Given the description of an element on the screen output the (x, y) to click on. 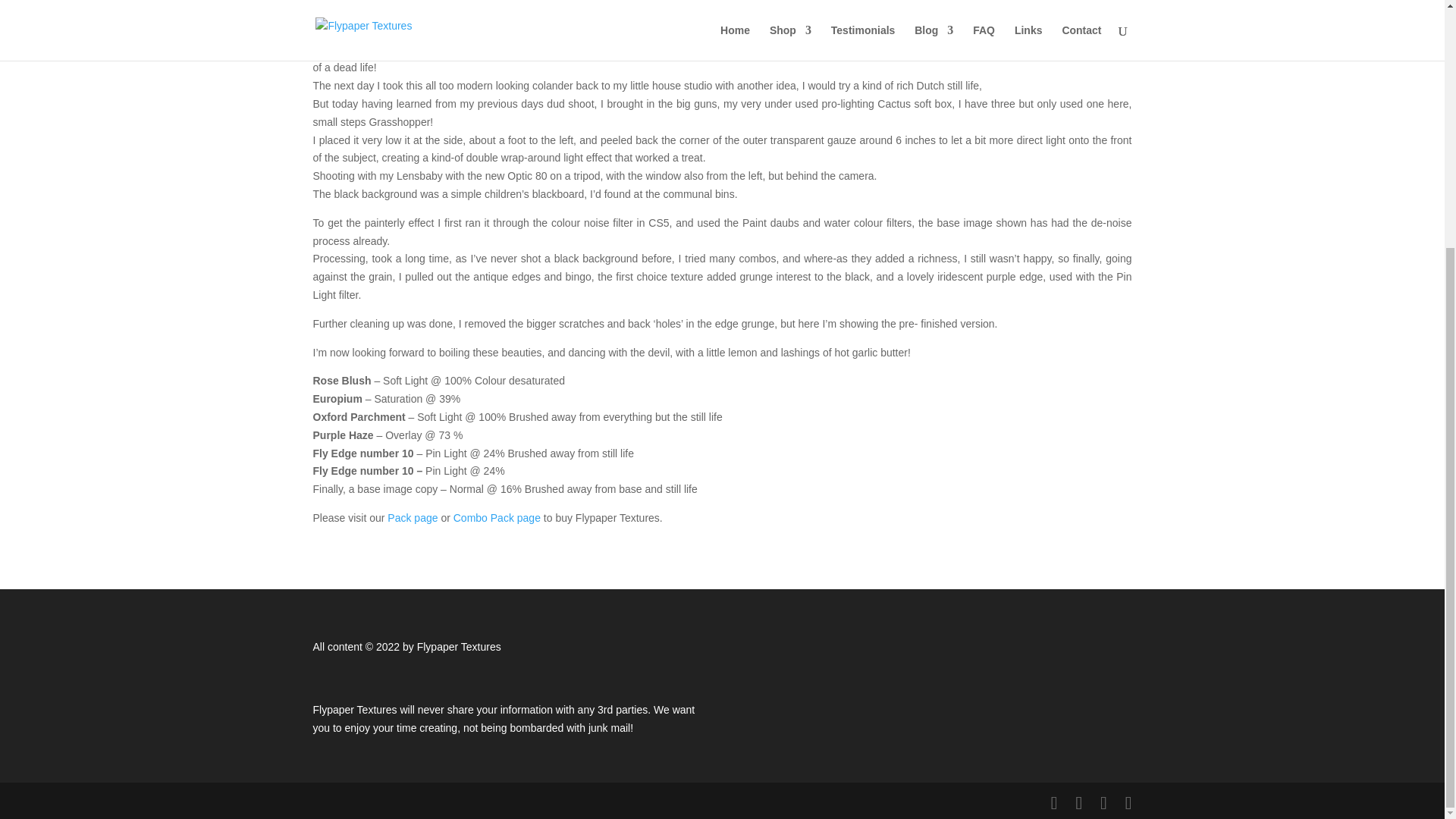
Pack page (412, 517)
Combo Pack page (496, 517)
